Given the description of an element on the screen output the (x, y) to click on. 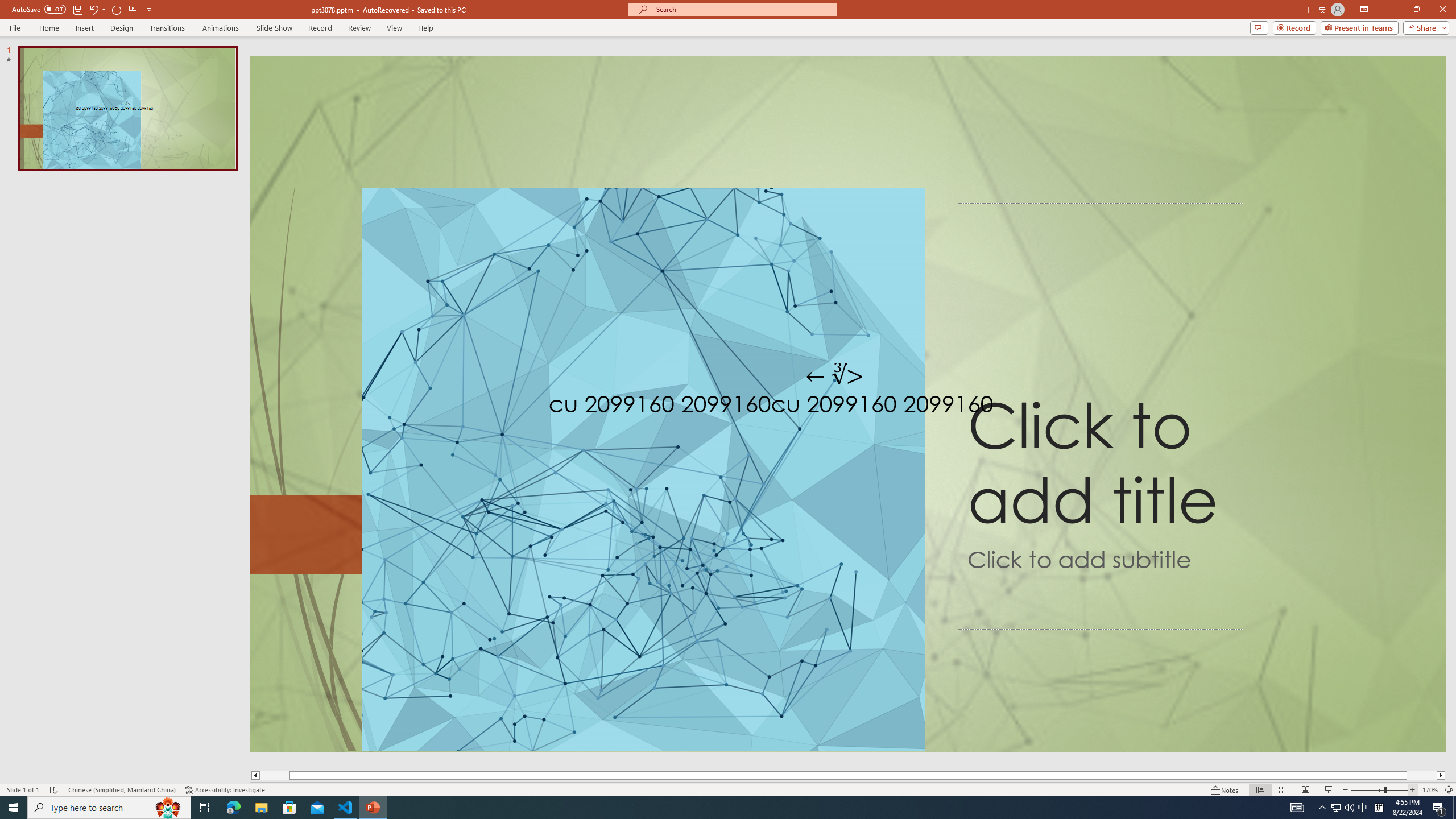
Design (122, 28)
Home (48, 28)
File Tab (15, 27)
